Given the description of an element on the screen output the (x, y) to click on. 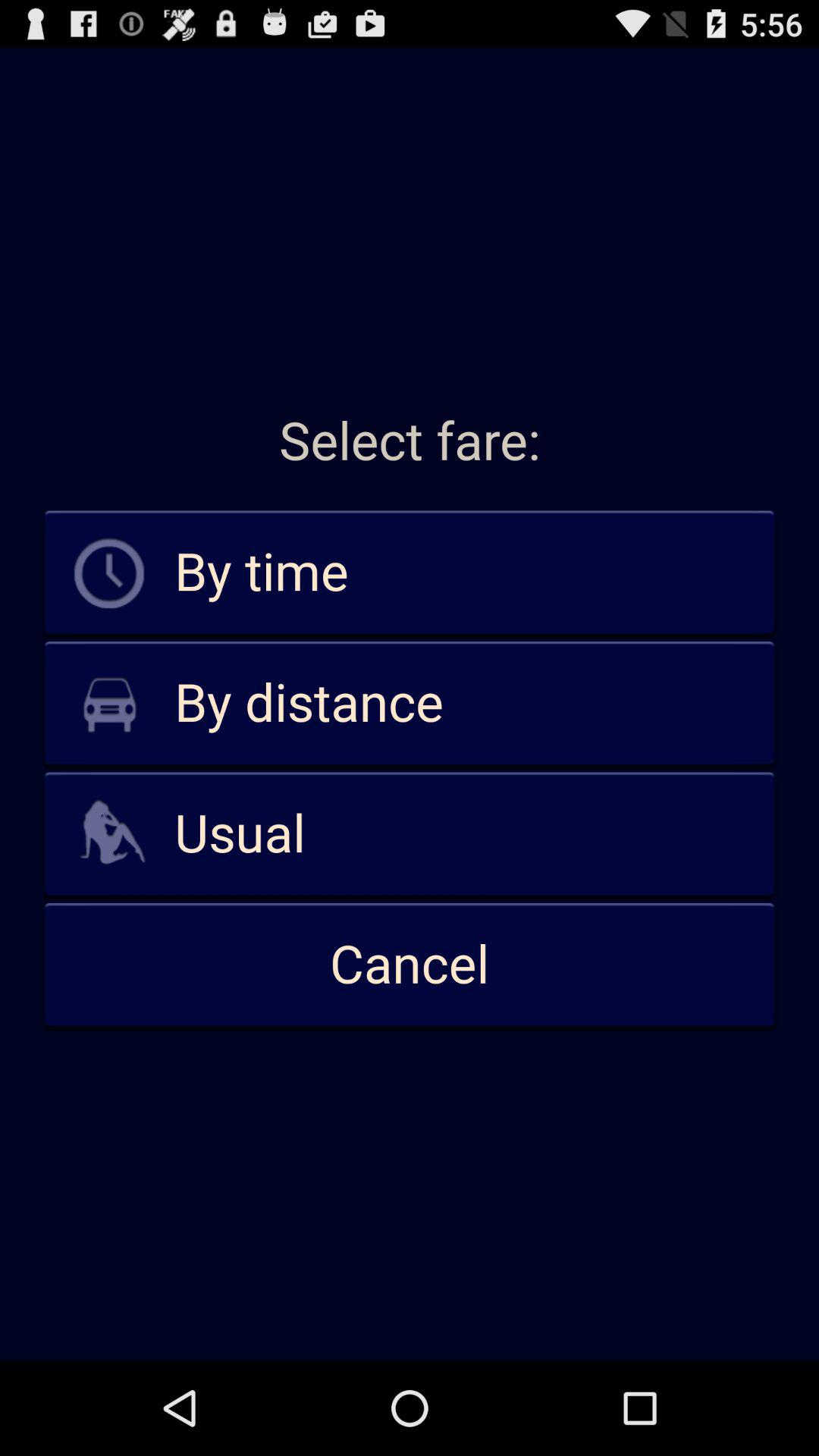
turn off the cancel app (409, 965)
